Given the description of an element on the screen output the (x, y) to click on. 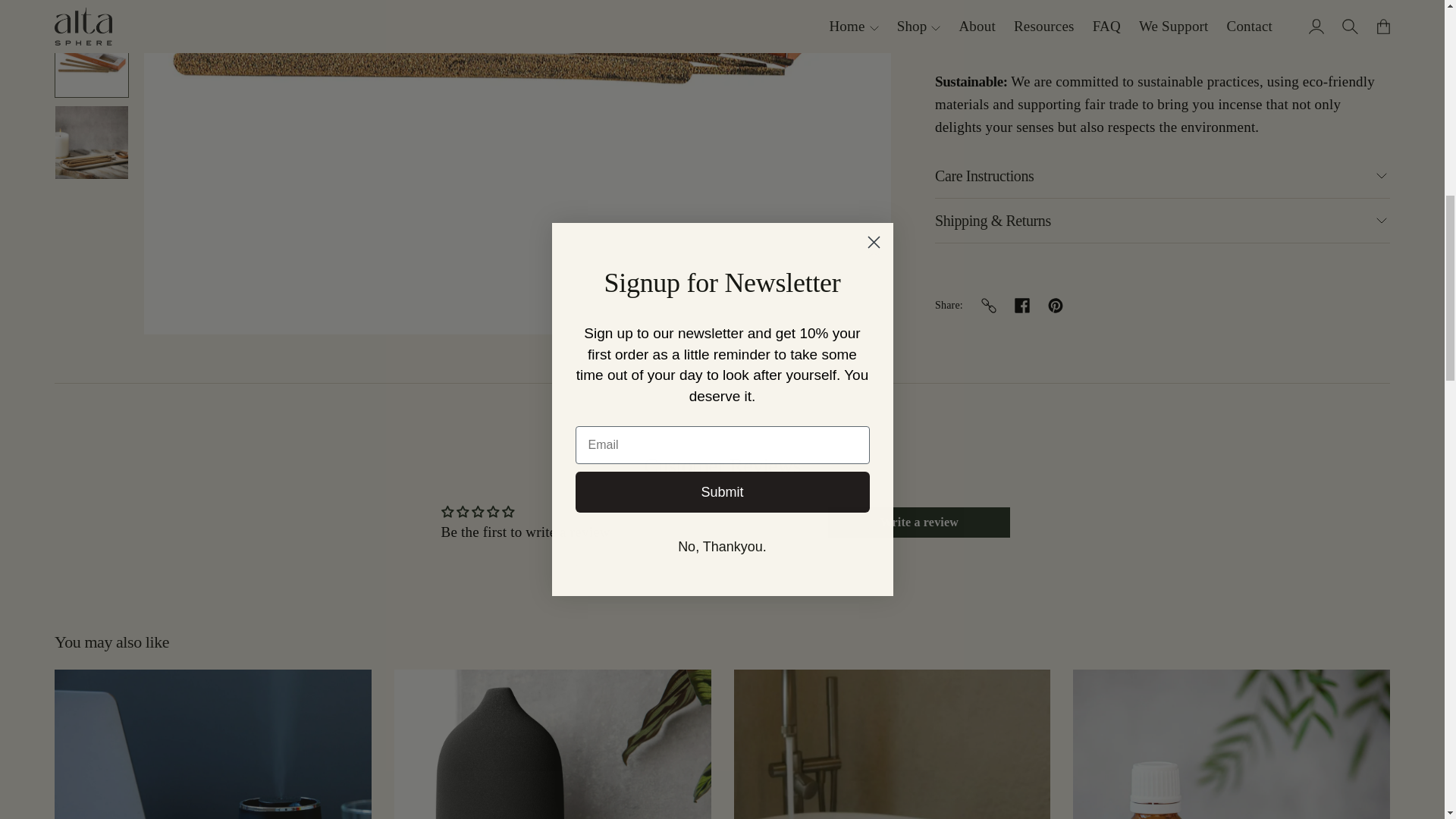
Alta Portable Diffuser Black (213, 744)
